Given the description of an element on the screen output the (x, y) to click on. 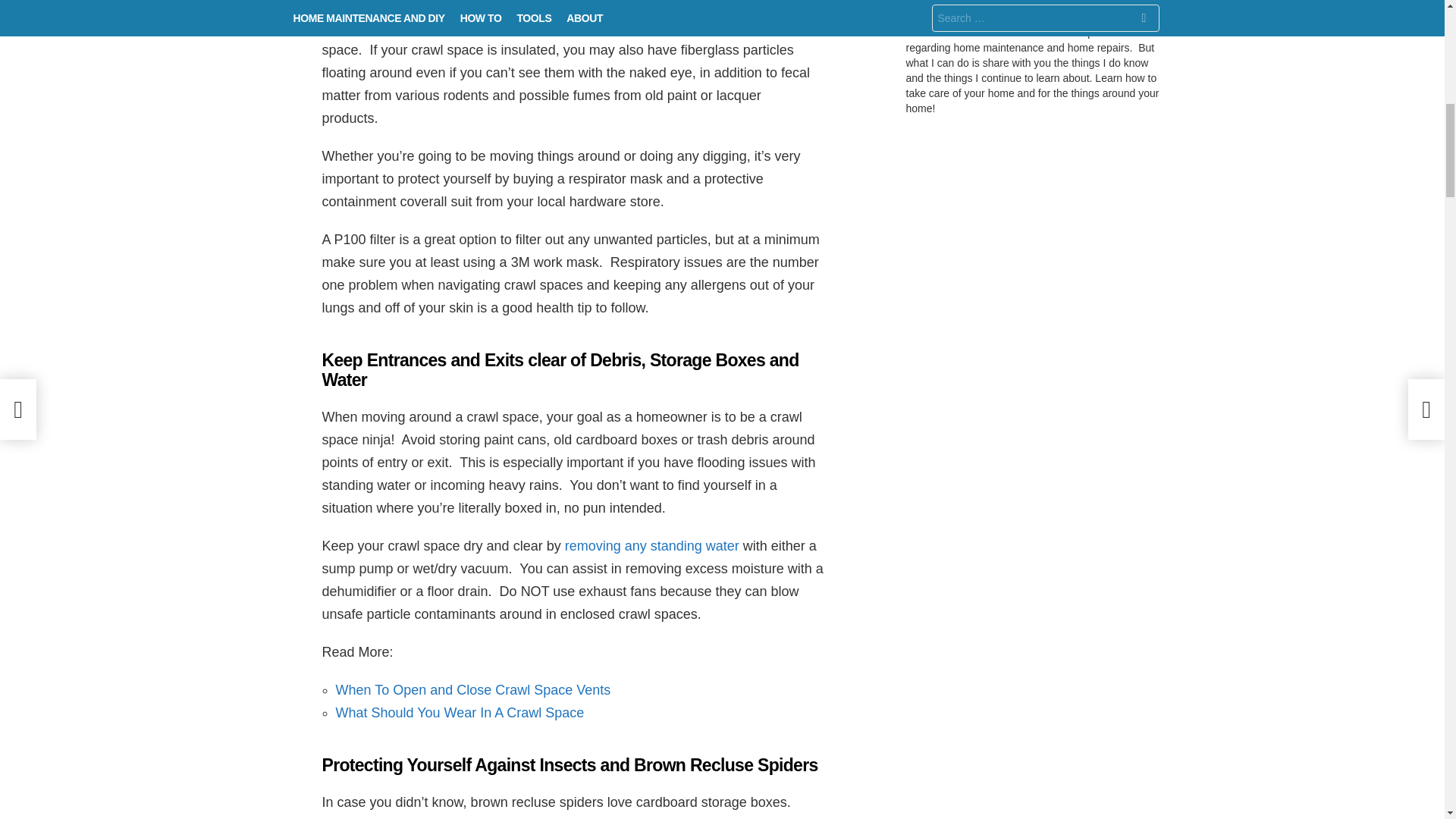
removing any standing water (651, 545)
When To Open and Close Crawl Space Vents (472, 689)
What Should You Wear In A Crawl Space (458, 712)
